Given the description of an element on the screen output the (x, y) to click on. 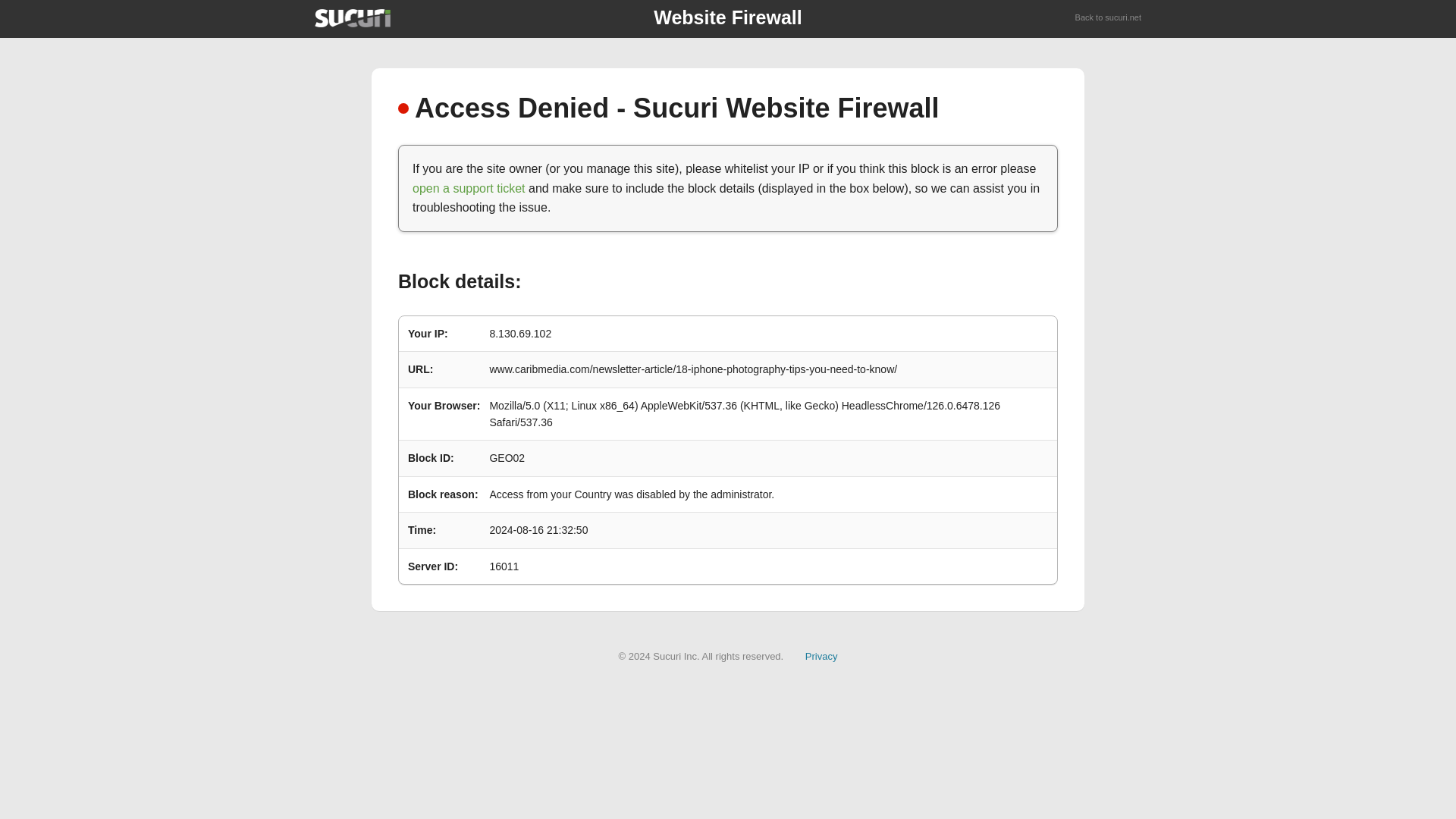
Privacy (821, 655)
Back to sucuri.net (1108, 18)
open a support ticket (468, 187)
